Given the description of an element on the screen output the (x, y) to click on. 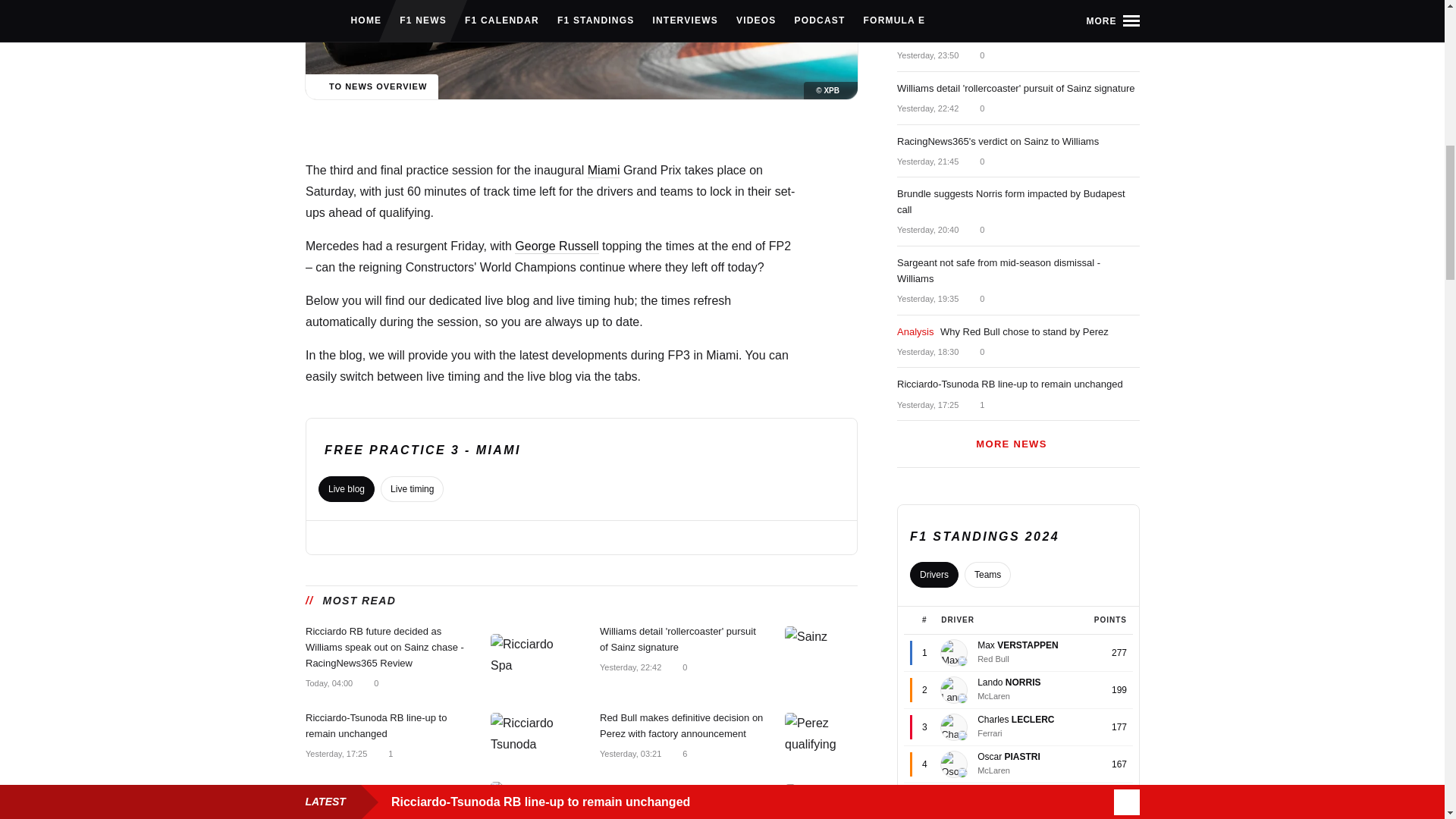
Tuesday, 30 July 2024 at 03:21 (629, 752)
Monday, 29 July 2024 at 17:09 (334, 814)
Tuesday, 30 July 2024 at 17:25 (335, 752)
Tuesday, 30 July 2024 at 22:42 (629, 665)
Wednesday, 31 July 2024 at 04:00 (328, 682)
